Given the description of an element on the screen output the (x, y) to click on. 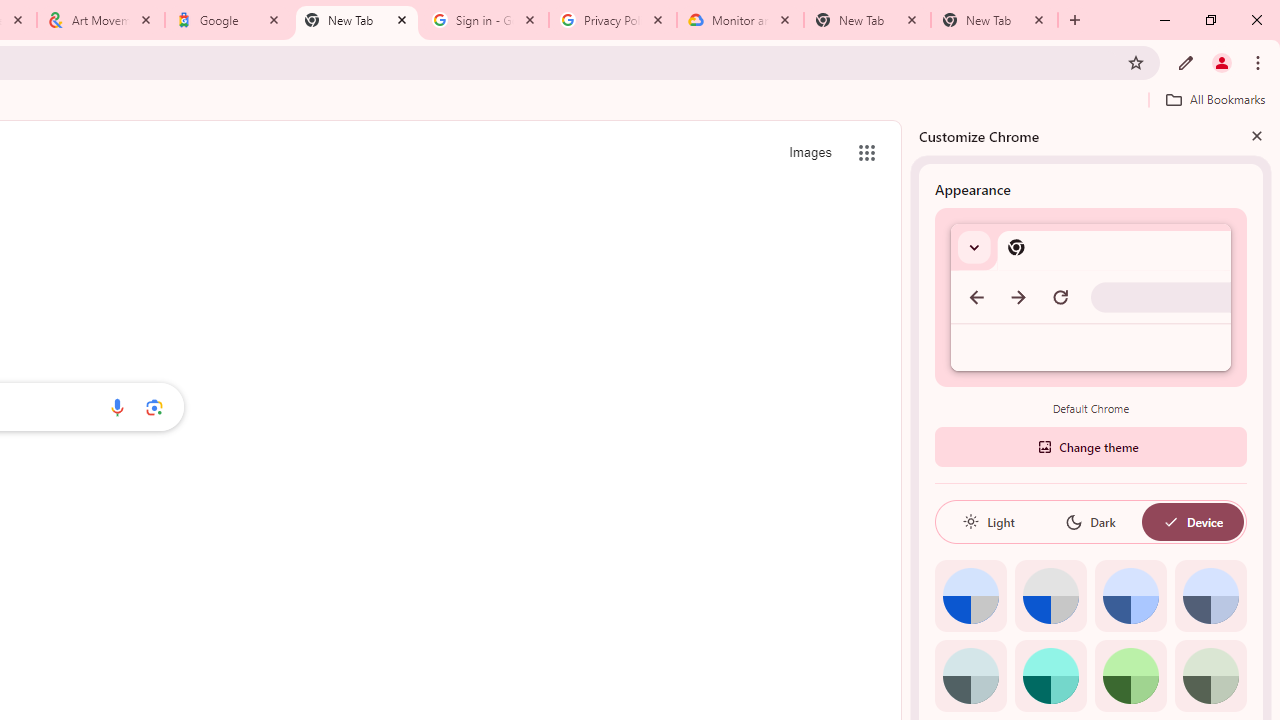
New Tab (866, 20)
Blue (1130, 596)
Sign in - Google Accounts (485, 20)
Default color (970, 596)
Green (1130, 676)
Dark (1090, 521)
New Tab (994, 20)
Viridian (1210, 676)
